Given the description of an element on the screen output the (x, y) to click on. 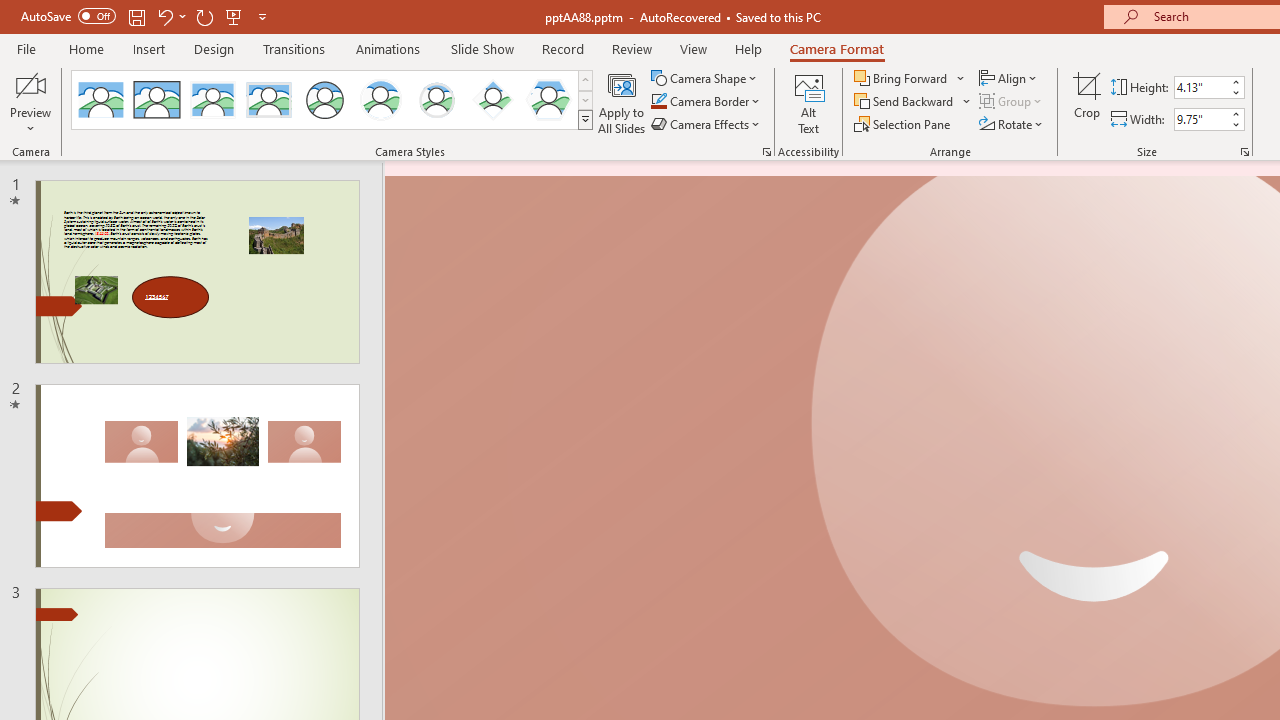
Cameo Height (1201, 87)
No Style (100, 100)
Soft Edge Rectangle (268, 100)
Align (1009, 78)
Selection Pane... (904, 124)
Send Backward (905, 101)
Crop (1087, 102)
